Given the description of an element on the screen output the (x, y) to click on. 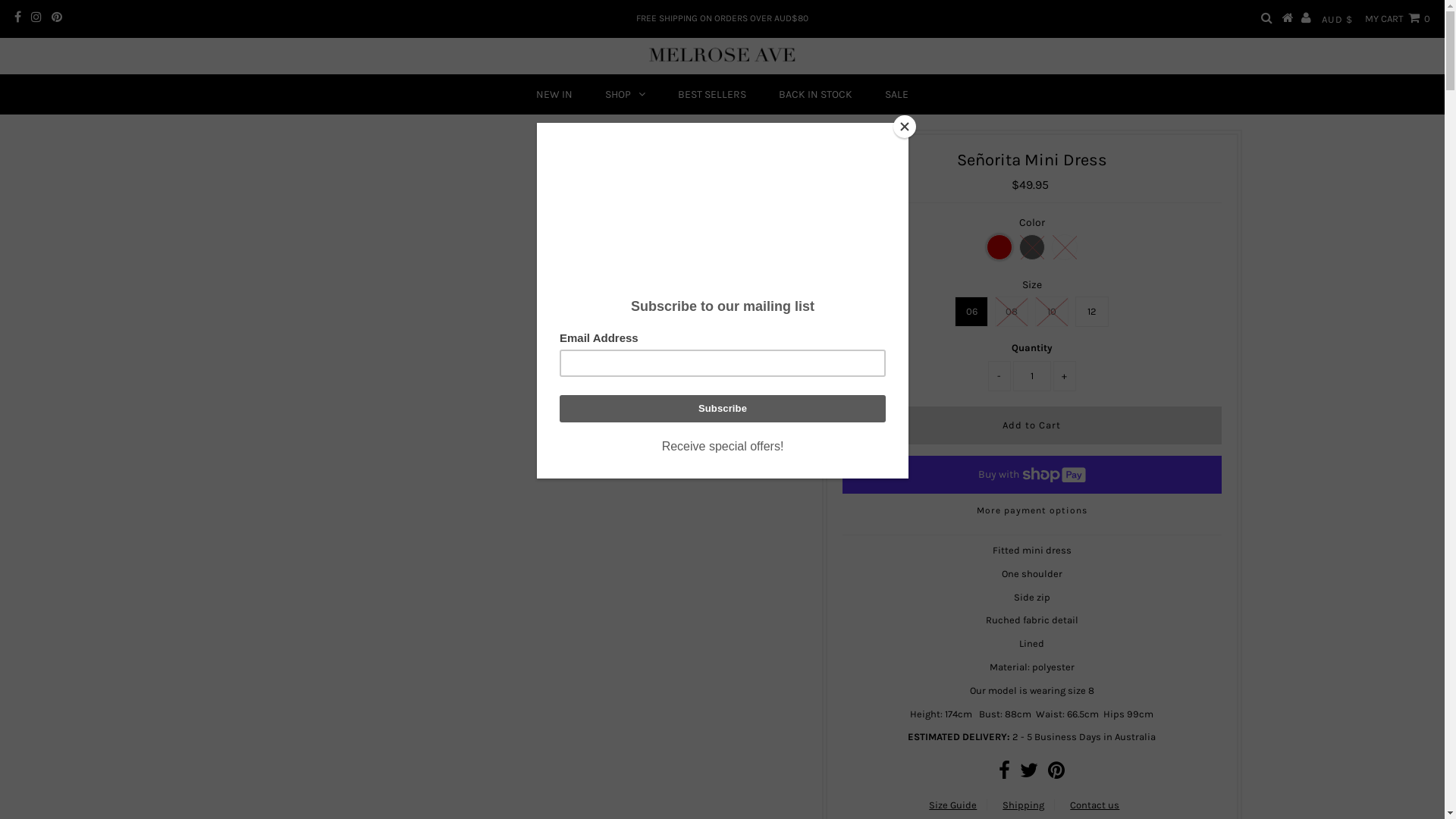
Shipping Element type: text (1023, 804)
NEW IN Element type: text (553, 94)
More payment options Element type: text (1031, 514)
BEST SELLERS Element type: text (711, 94)
SHOP Element type: text (624, 94)
BACK IN STOCK Element type: text (815, 94)
Add to Cart Element type: text (1031, 425)
AUD $ Element type: text (1337, 18)
Size Guide Element type: text (952, 804)
MY CART    0 Element type: text (1397, 18)
Contact us Element type: text (1094, 804)
- Element type: text (999, 375)
SALE Element type: text (896, 94)
Share on Twitter Element type: hover (1028, 773)
Share on Pinterest Element type: hover (1056, 773)
Share on Facebook Element type: hover (1004, 773)
FREE SHIPPING ON ORDERS OVER AUD$80 Element type: text (722, 17)
+ Element type: text (1064, 375)
